Given the description of an element on the screen output the (x, y) to click on. 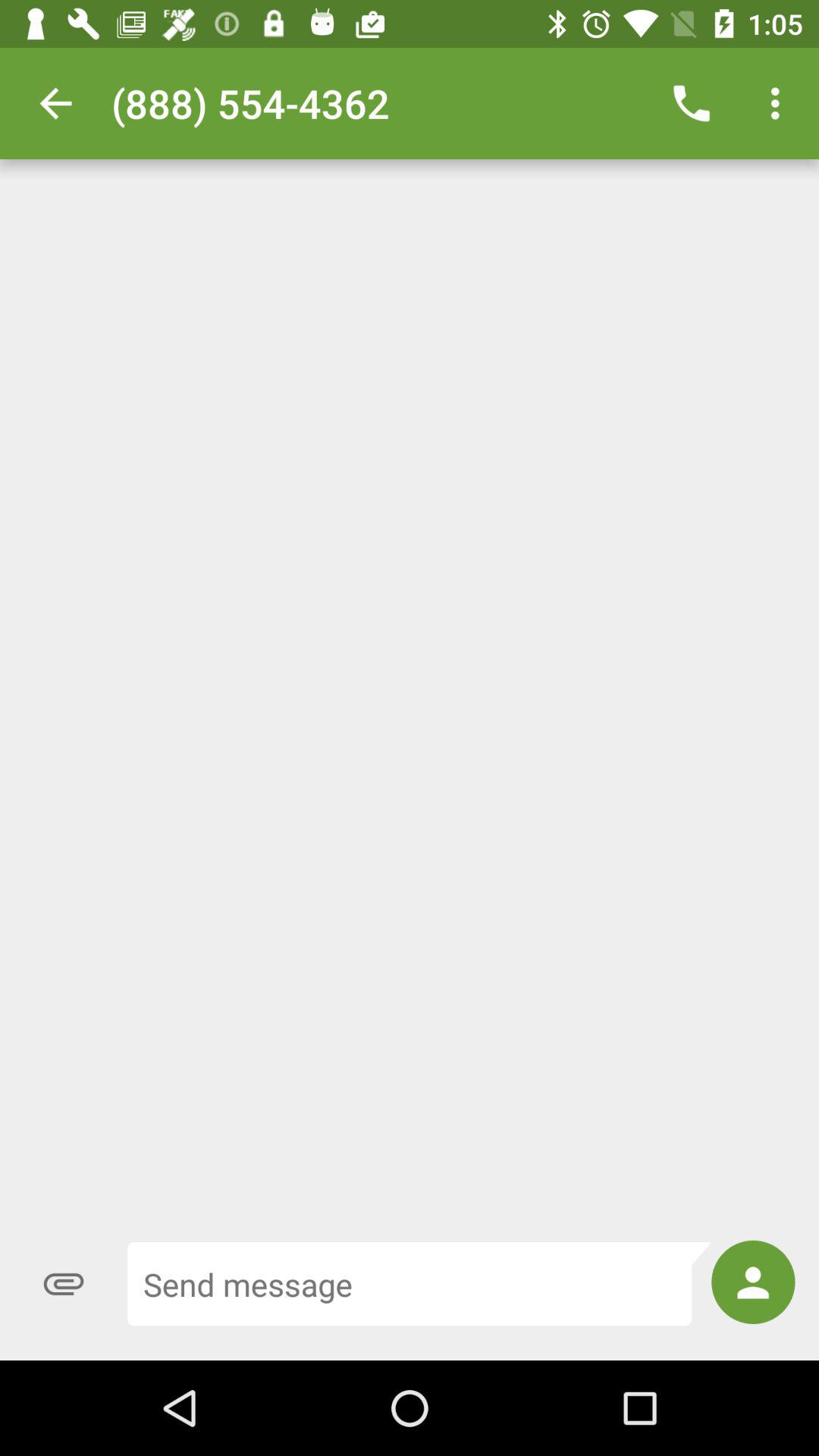
click icon next to (888) 554-4362 icon (691, 103)
